Given the description of an element on the screen output the (x, y) to click on. 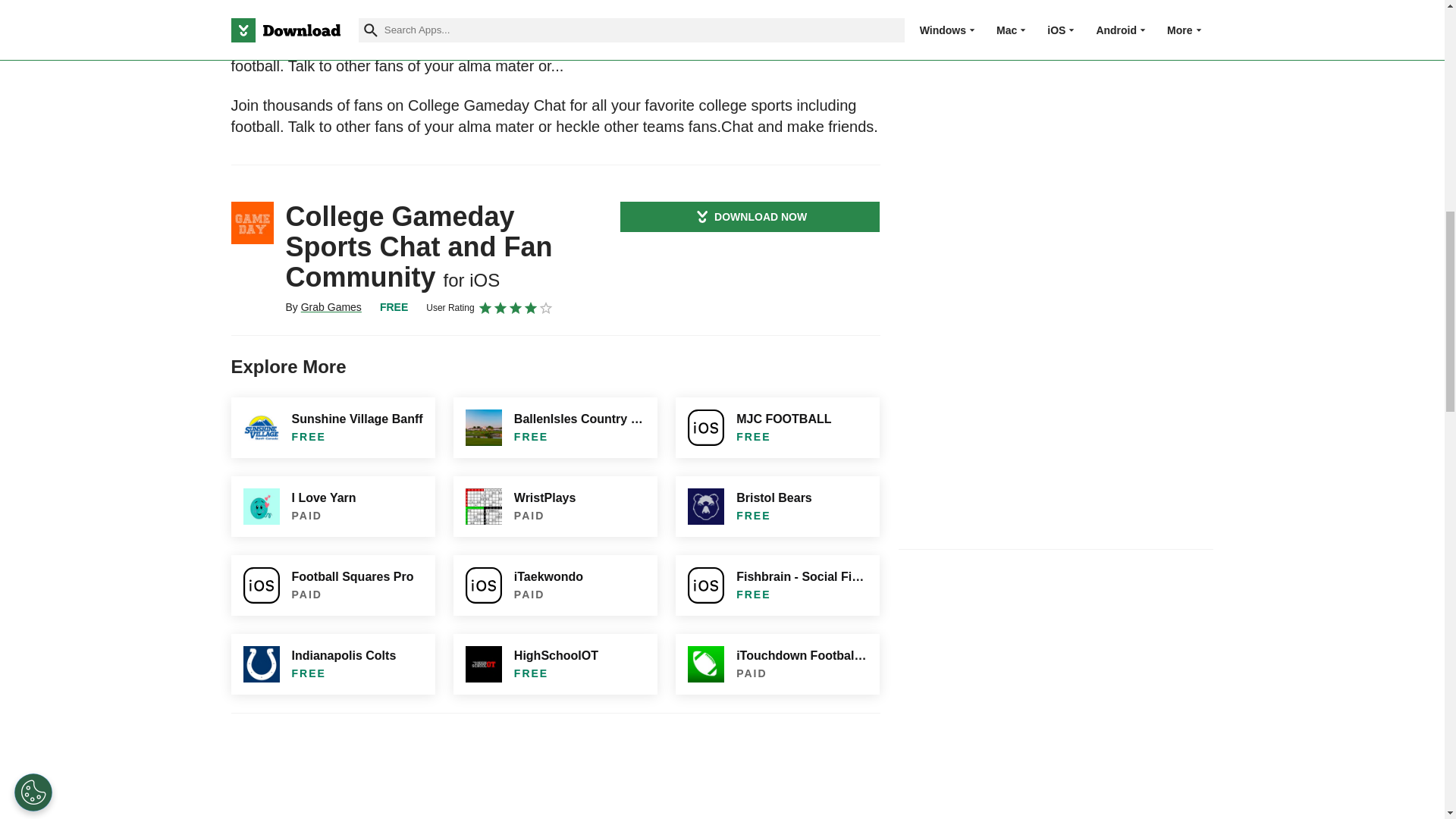
I Love Yarn (331, 506)
Sunshine Village Banff (331, 427)
Football Squares Pro (331, 585)
iTaekwondo (555, 585)
Bristol Bears (777, 506)
Fishbrain - Social Fishing Forecast App (777, 585)
MJC FOOTBALL (777, 427)
iTouchdown Football Scorekeeping (777, 663)
BallenIsles Country Club (555, 427)
WristPlays (555, 506)
College Gameday Sports Chat and Fan Community for iOS (251, 222)
Indianapolis Colts (331, 663)
HighSchoolOT (555, 663)
